Given the description of an element on the screen output the (x, y) to click on. 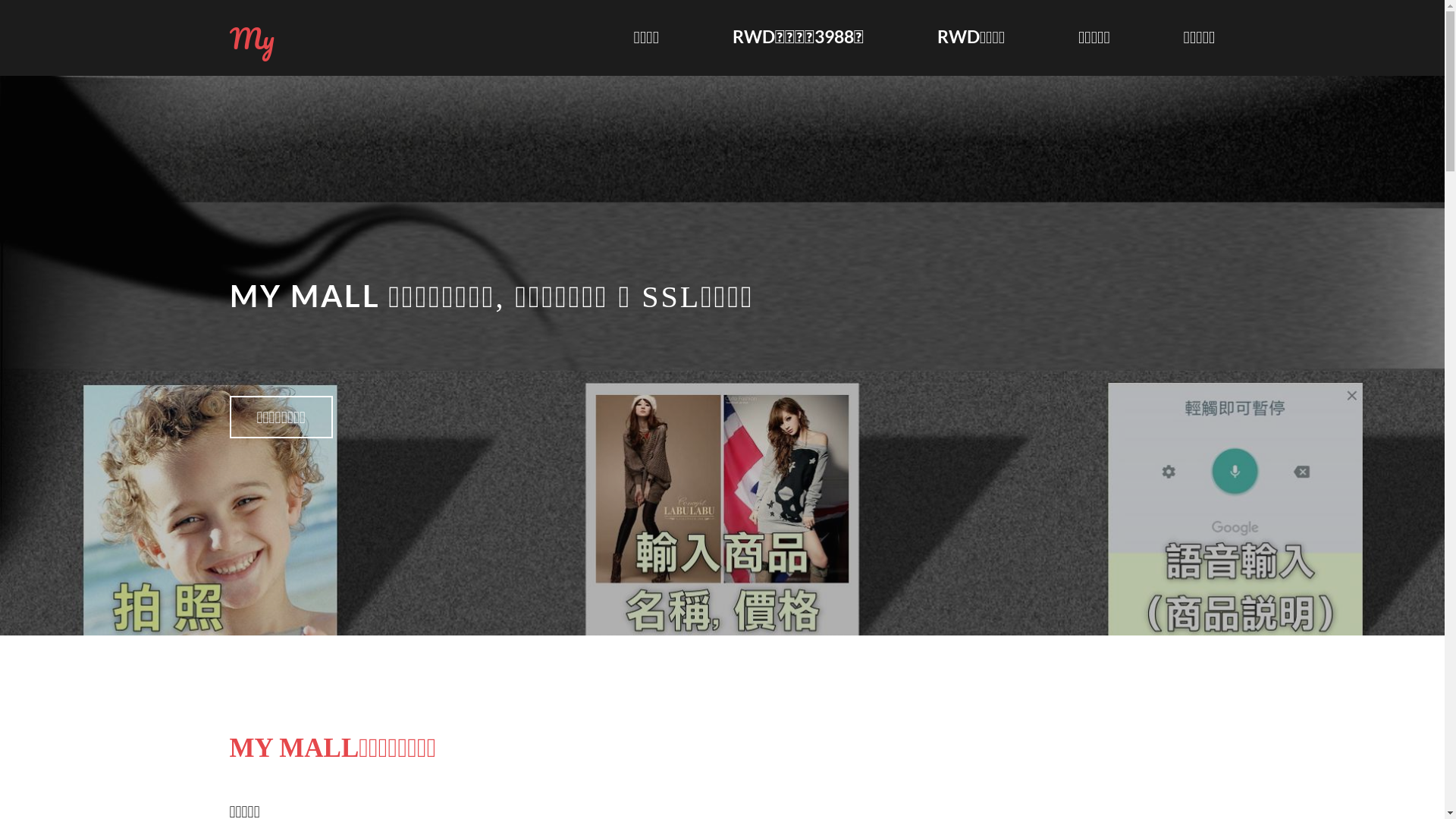
My Element type: text (251, 37)
